Given the description of an element on the screen output the (x, y) to click on. 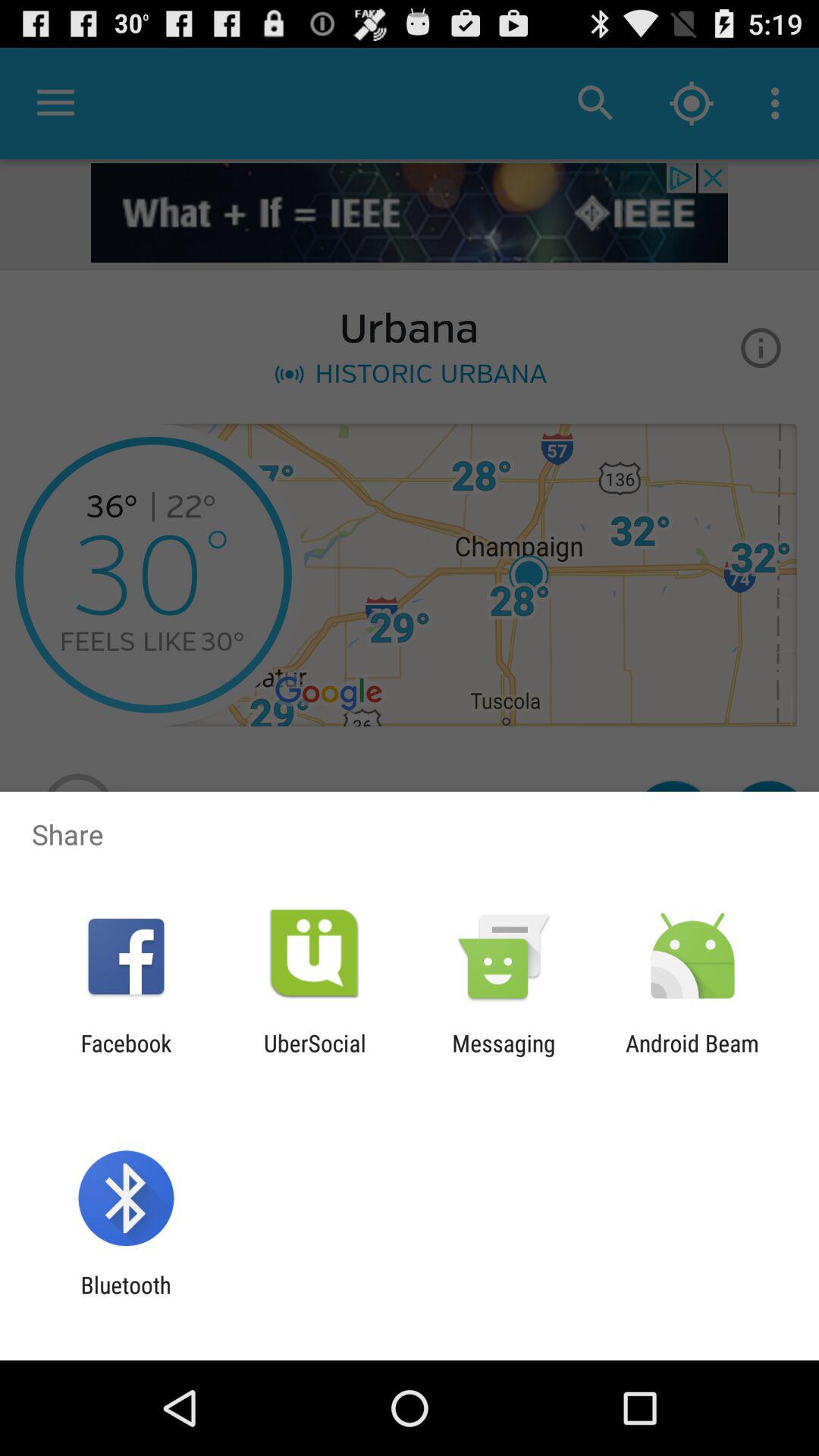
press ubersocial app (314, 1056)
